Given the description of an element on the screen output the (x, y) to click on. 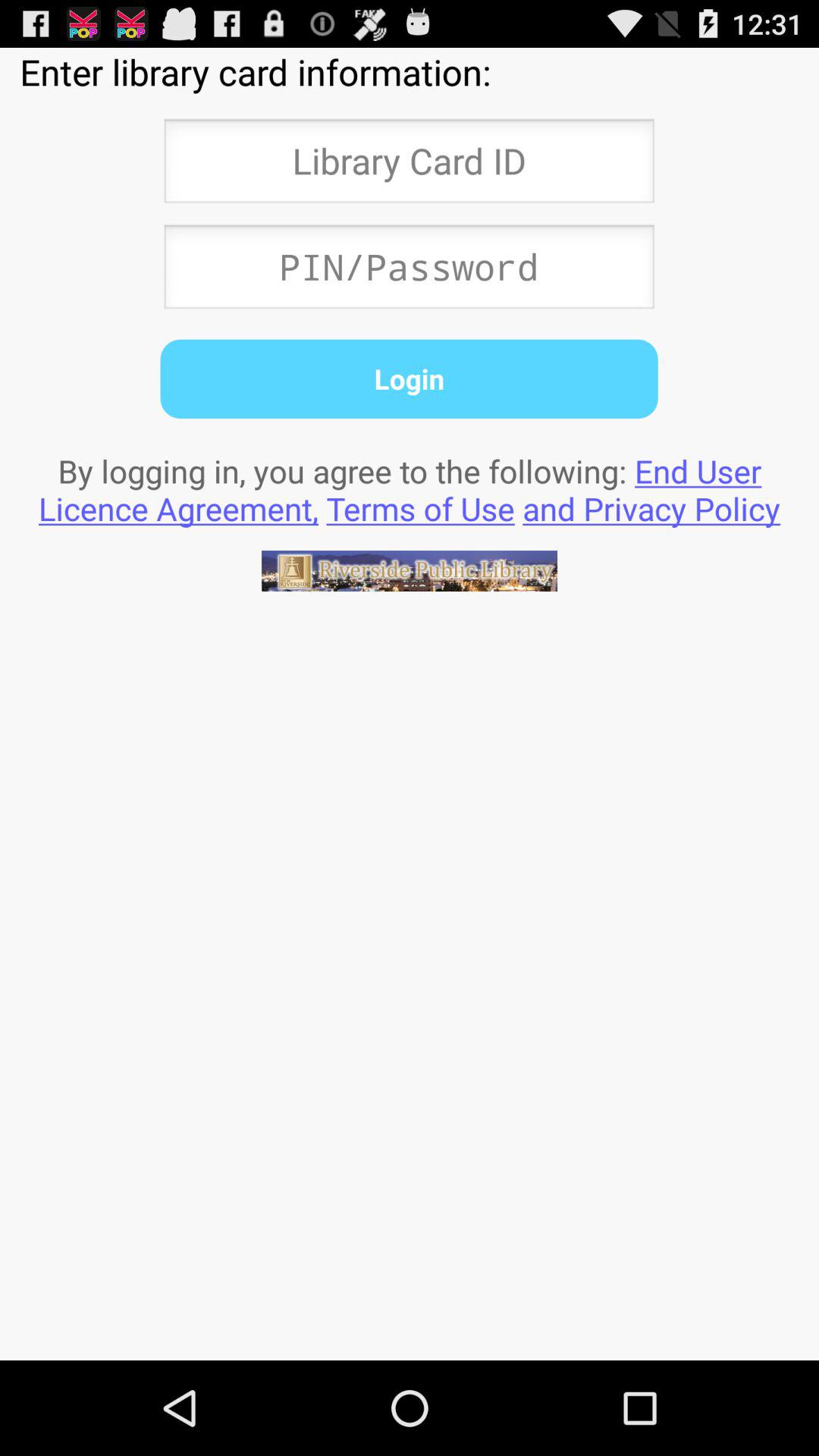
swipe to by logging in (409, 489)
